Given the description of an element on the screen output the (x, y) to click on. 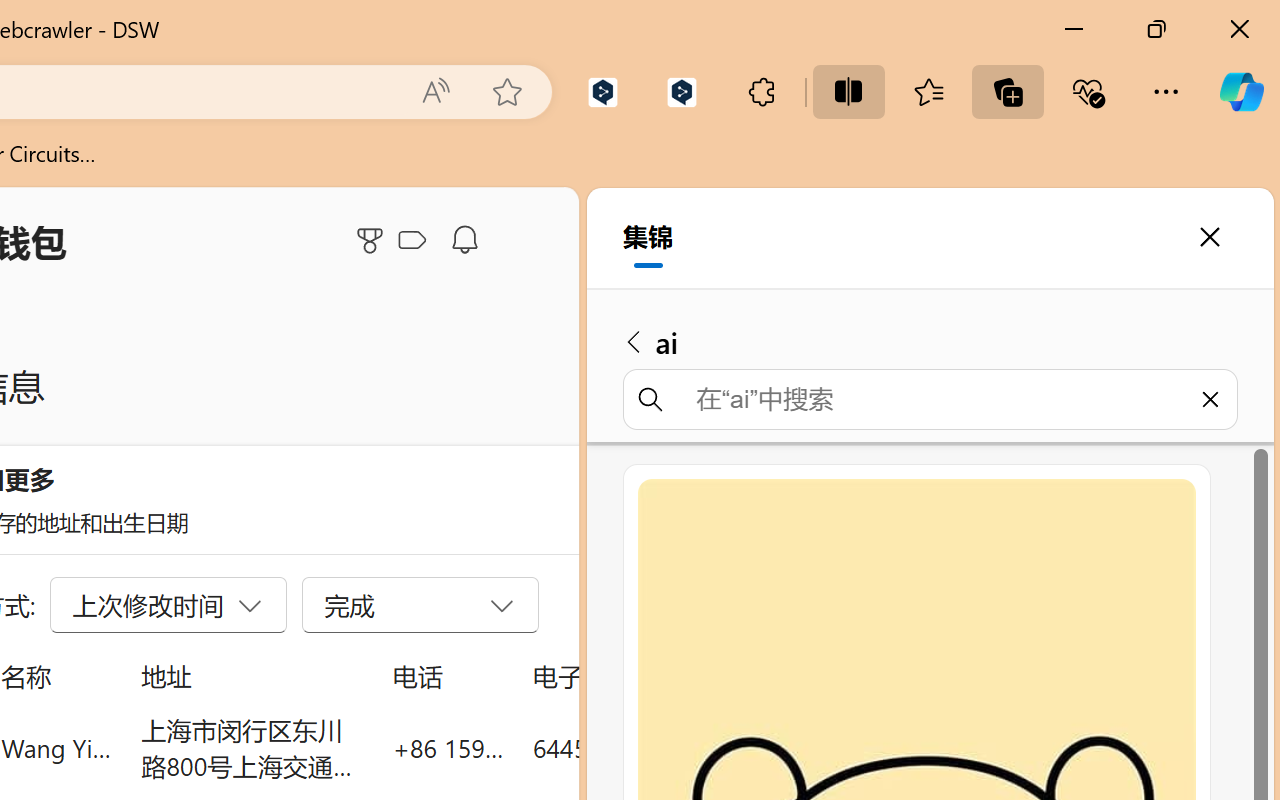
Class: ___1lmltc5 f1agt3bx f12qytpq (411, 241)
+86 159 0032 4640 (447, 747)
Microsoft Cashback (415, 241)
Microsoft Rewards (373, 240)
